Given the description of an element on the screen output the (x, y) to click on. 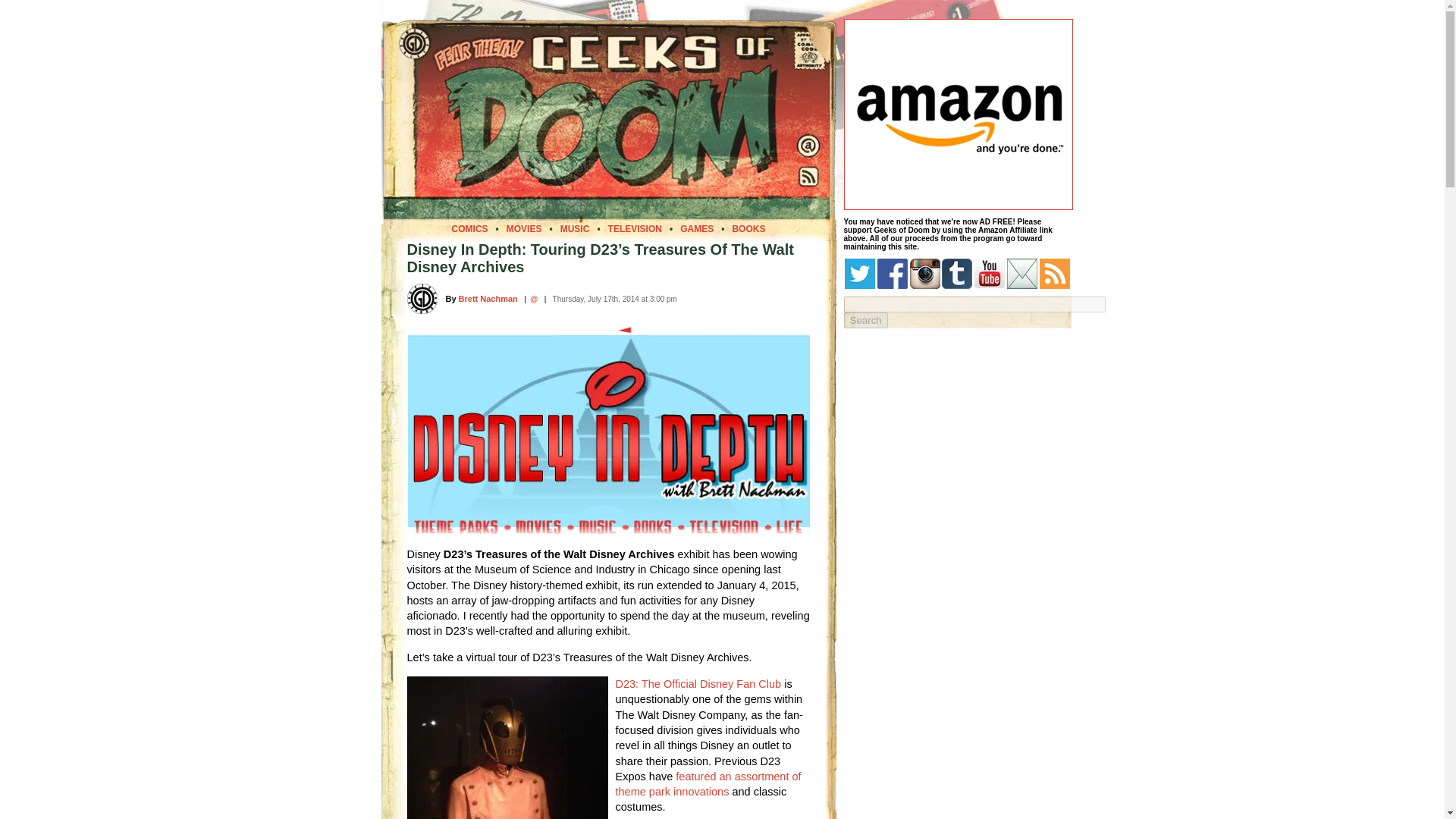
COMICS (469, 228)
featured an assortment of theme park innovations (708, 783)
GAMES (696, 228)
TELEVISION (635, 228)
BOOKS (748, 228)
D23: The Official Disney Fan Club (698, 684)
Follow Brett Nachman on Twitter (533, 298)
Disney In Depth banner (608, 429)
Search (864, 320)
View Brett Nachman's profile (488, 298)
MUSIC (574, 228)
Brett Nachman (488, 298)
MOVIES (523, 228)
